Given the description of an element on the screen output the (x, y) to click on. 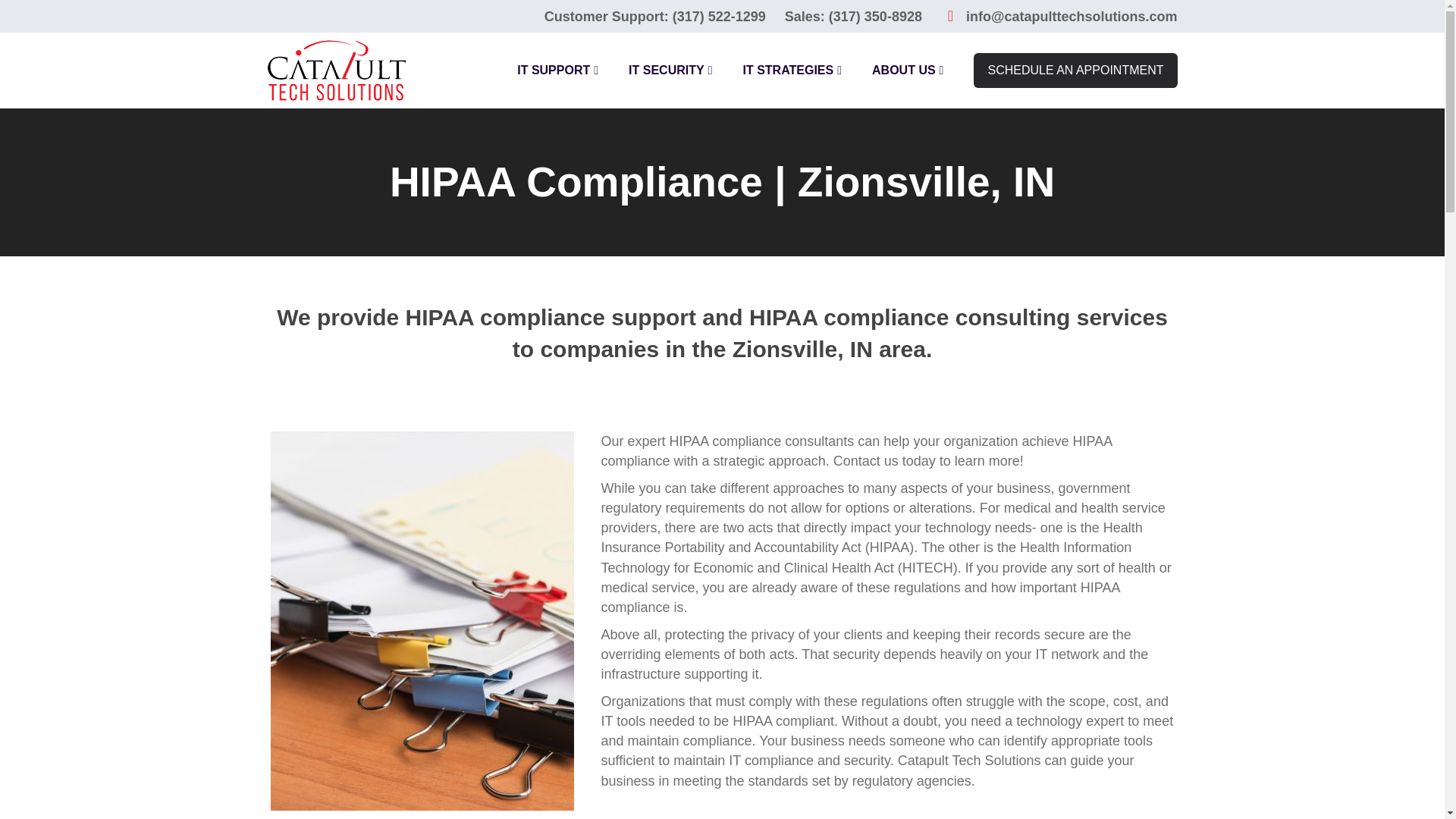
IT SECURITY (669, 70)
ABOUT US (907, 70)
IT STRATEGIES (791, 70)
SCHEDULE AN APPOINTMENT (1075, 70)
IT SUPPORT (557, 70)
catapulttechsolutions-logo (335, 70)
